Given the description of an element on the screen output the (x, y) to click on. 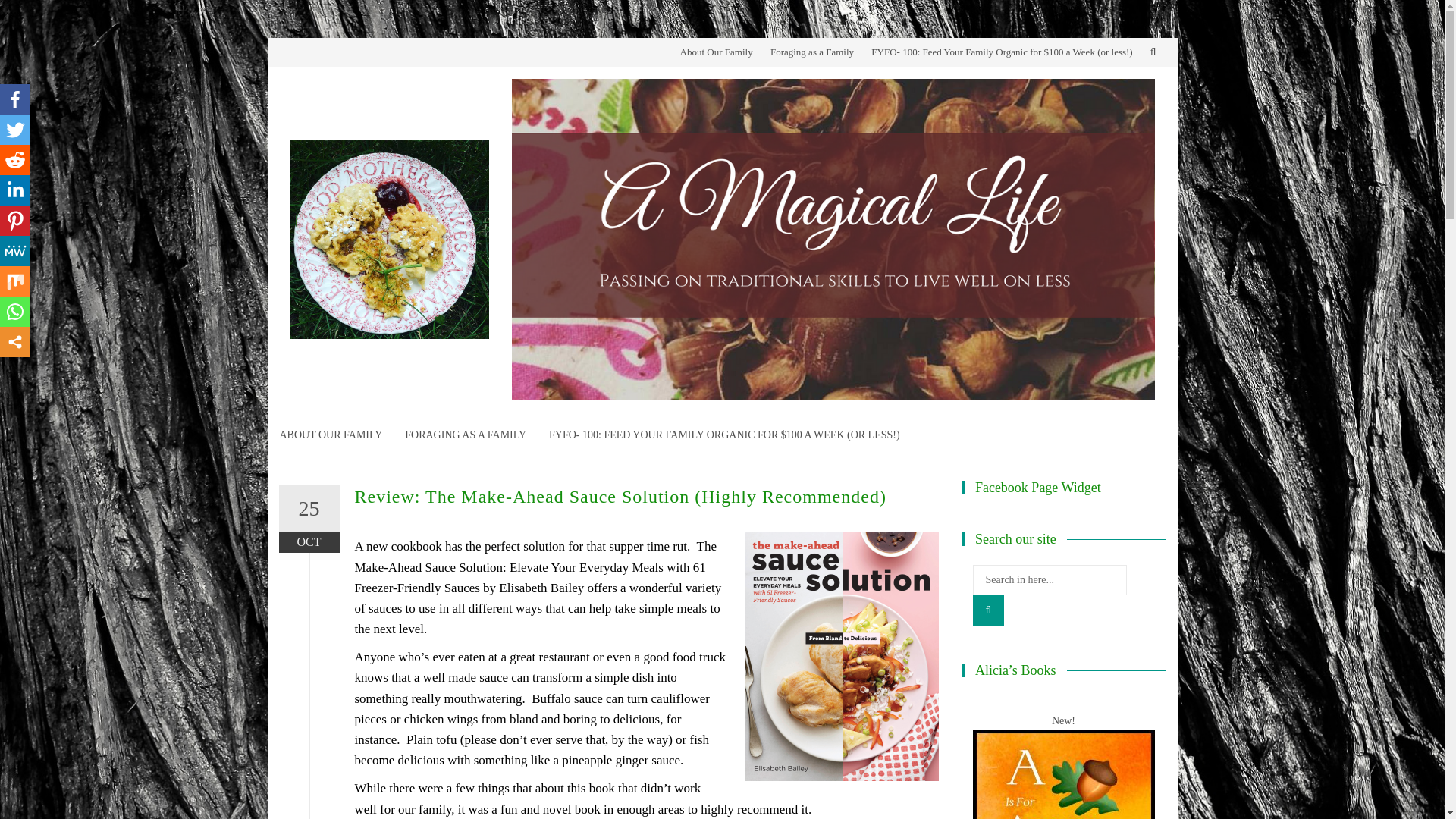
FORAGING AS A FAMILY (465, 434)
About Our Family (715, 51)
Foraging as a Family (811, 51)
ABOUT OUR FAMILY (330, 434)
